Given the description of an element on the screen output the (x, y) to click on. 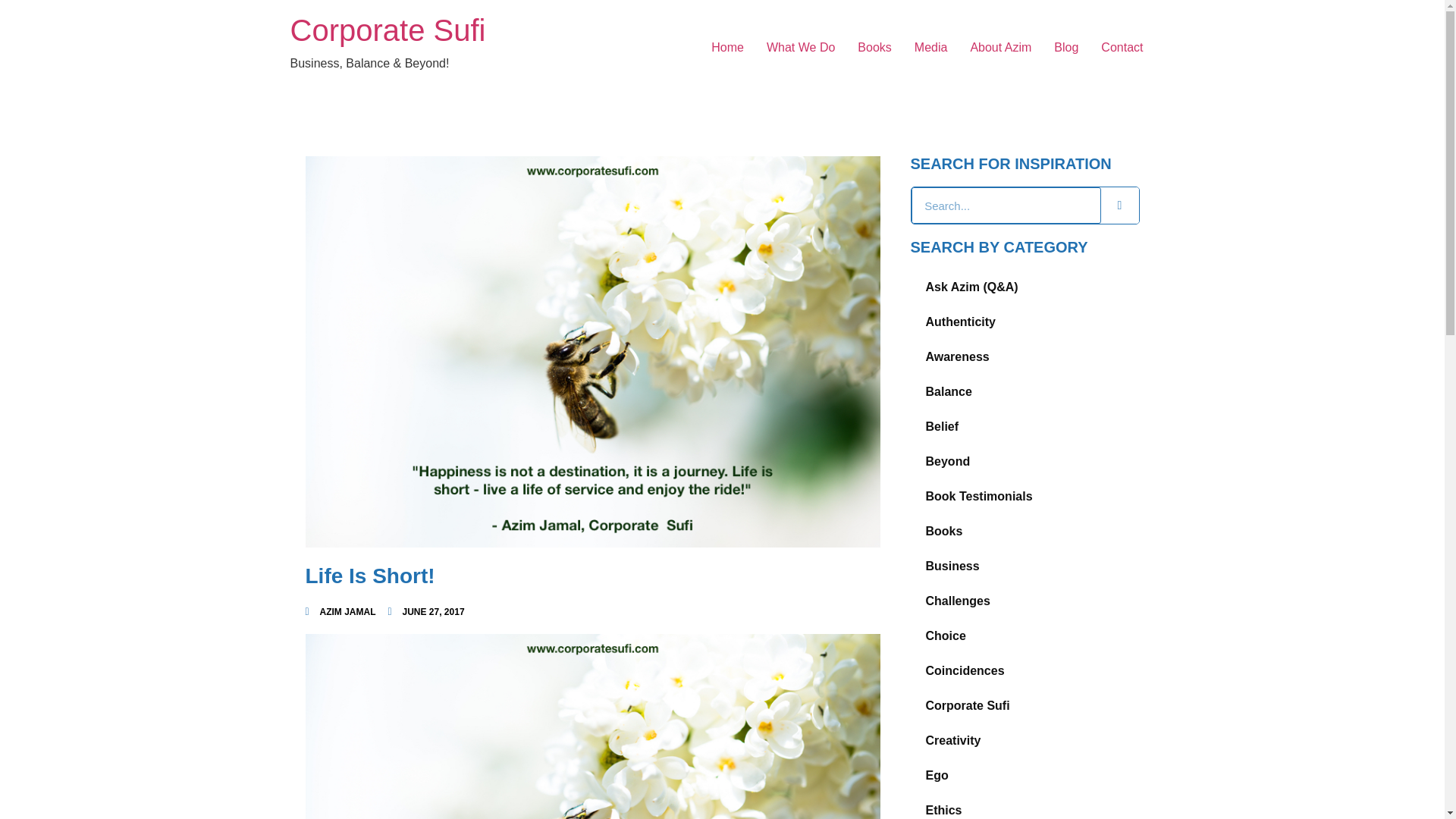
Corporate Sufi (386, 29)
Ego (1024, 775)
Balance (1024, 391)
Books (1024, 531)
Contact (1121, 47)
Creativity (1024, 740)
Belief (1024, 426)
Coincidences (1024, 670)
About Azim (1000, 47)
Books (873, 47)
